Given the description of an element on the screen output the (x, y) to click on. 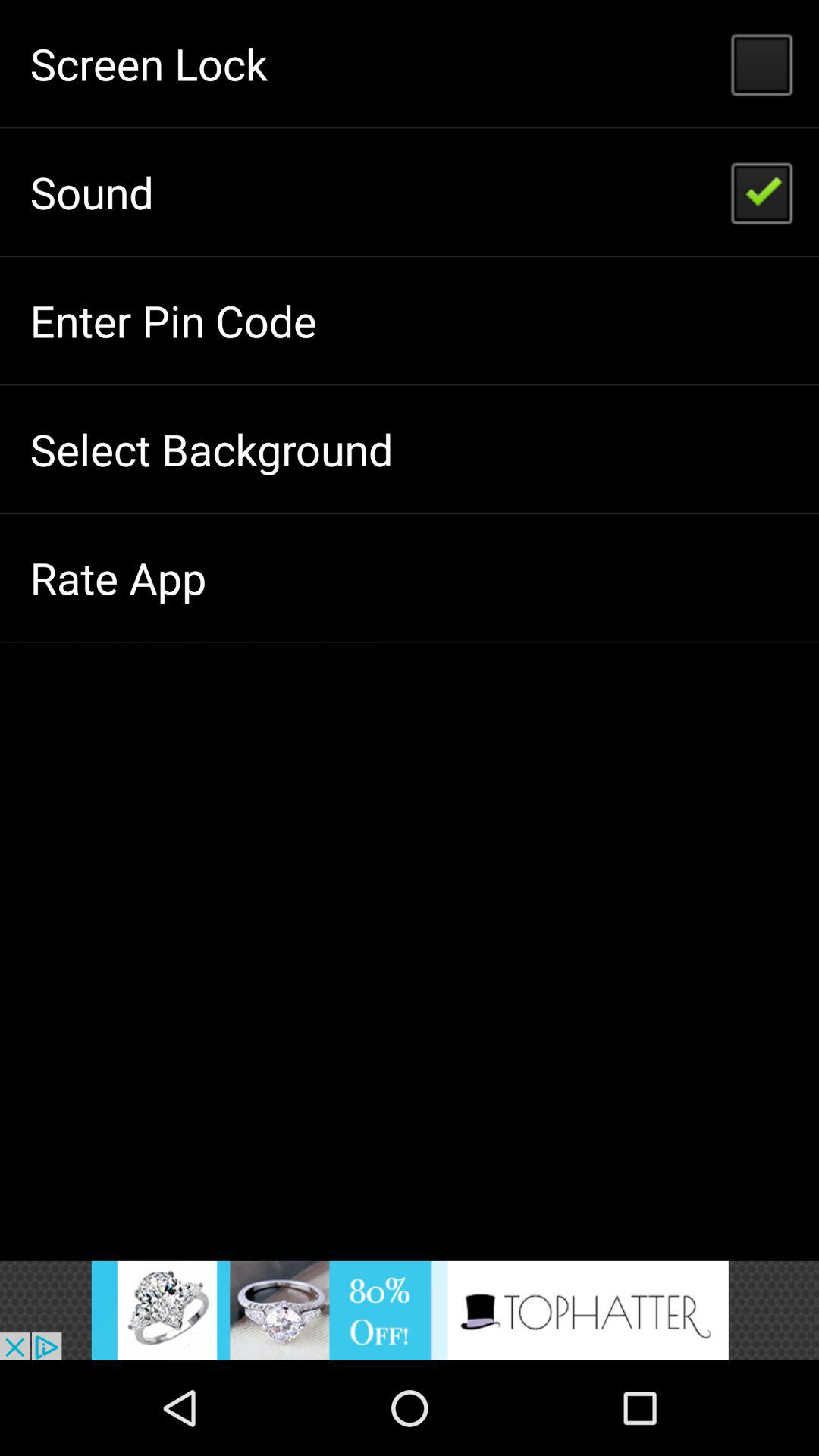
go to advertisement (409, 1310)
